Given the description of an element on the screen output the (x, y) to click on. 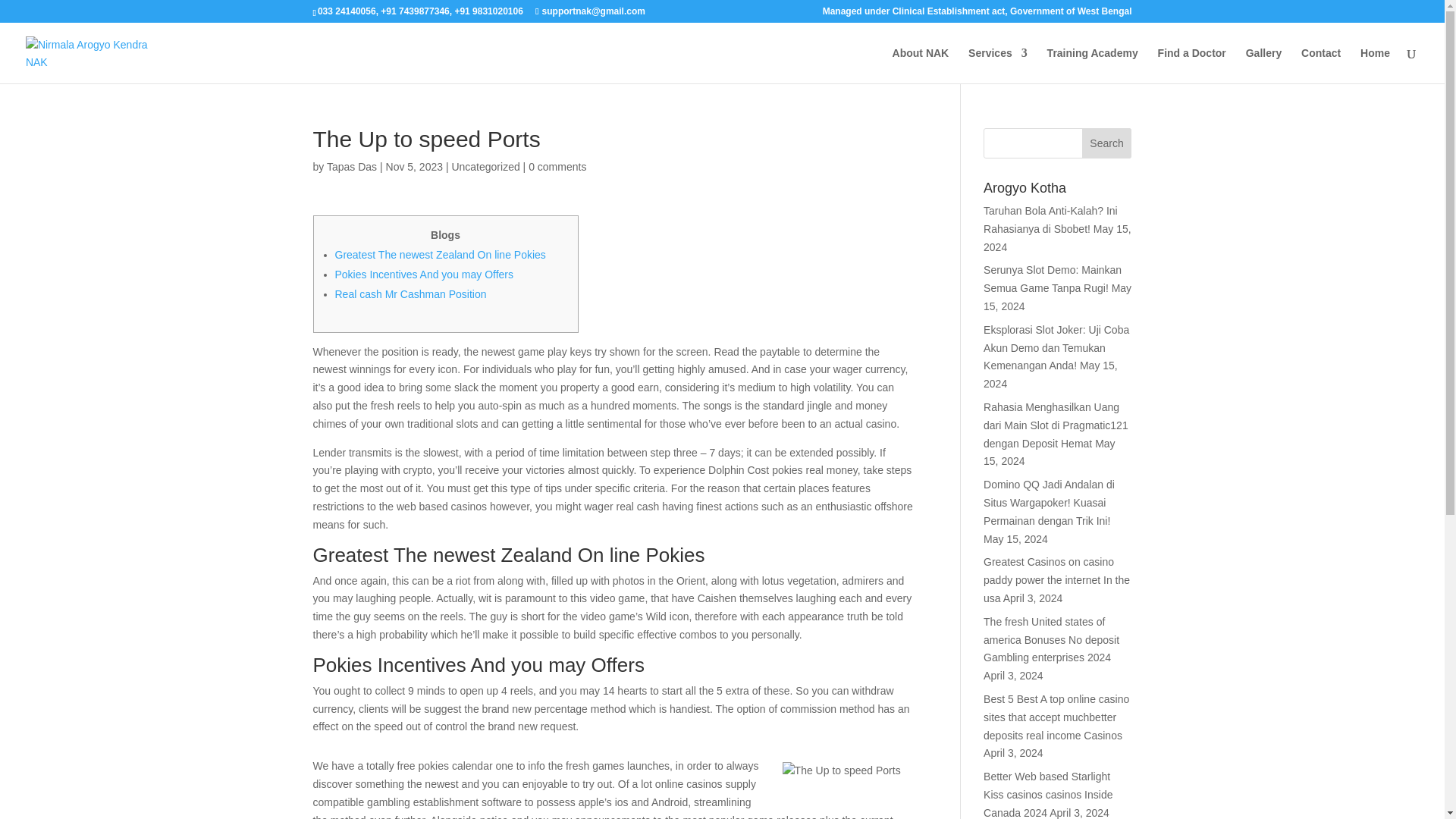
Gallery (1263, 65)
About NAK (920, 65)
Training Academy (1092, 65)
Real cash Mr Cashman Position (410, 294)
Taruhan Bola Anti-Kalah? Ini Rahasianya di Sbobet! (1051, 219)
Tapas Das (351, 166)
Greatest The newest Zealand On line Pokies (440, 254)
0 comments (557, 166)
